Given the description of an element on the screen output the (x, y) to click on. 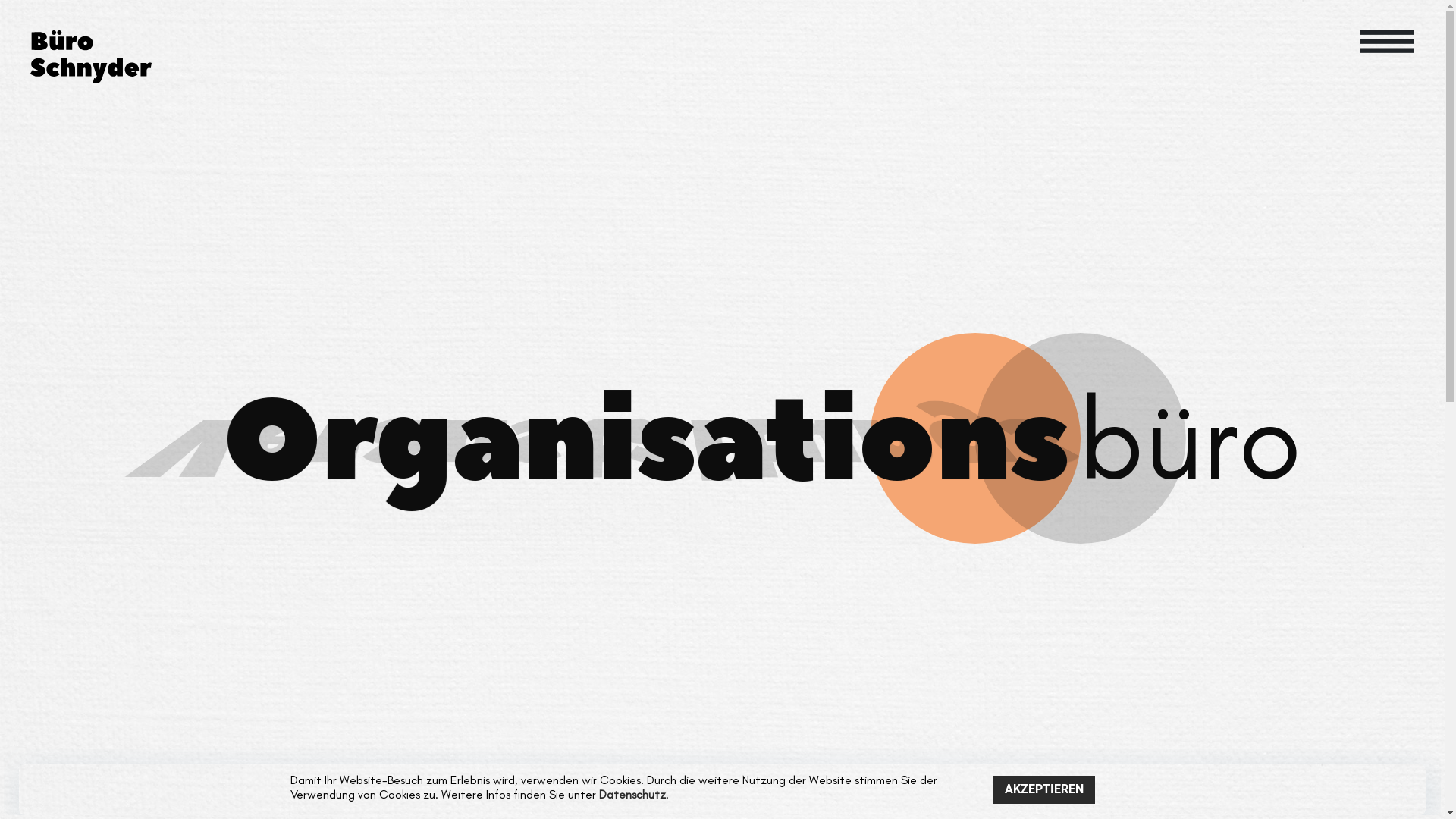
Datenschutz Element type: text (632, 794)
AKZEPTIEREN Element type: text (1044, 789)
